Given the description of an element on the screen output the (x, y) to click on. 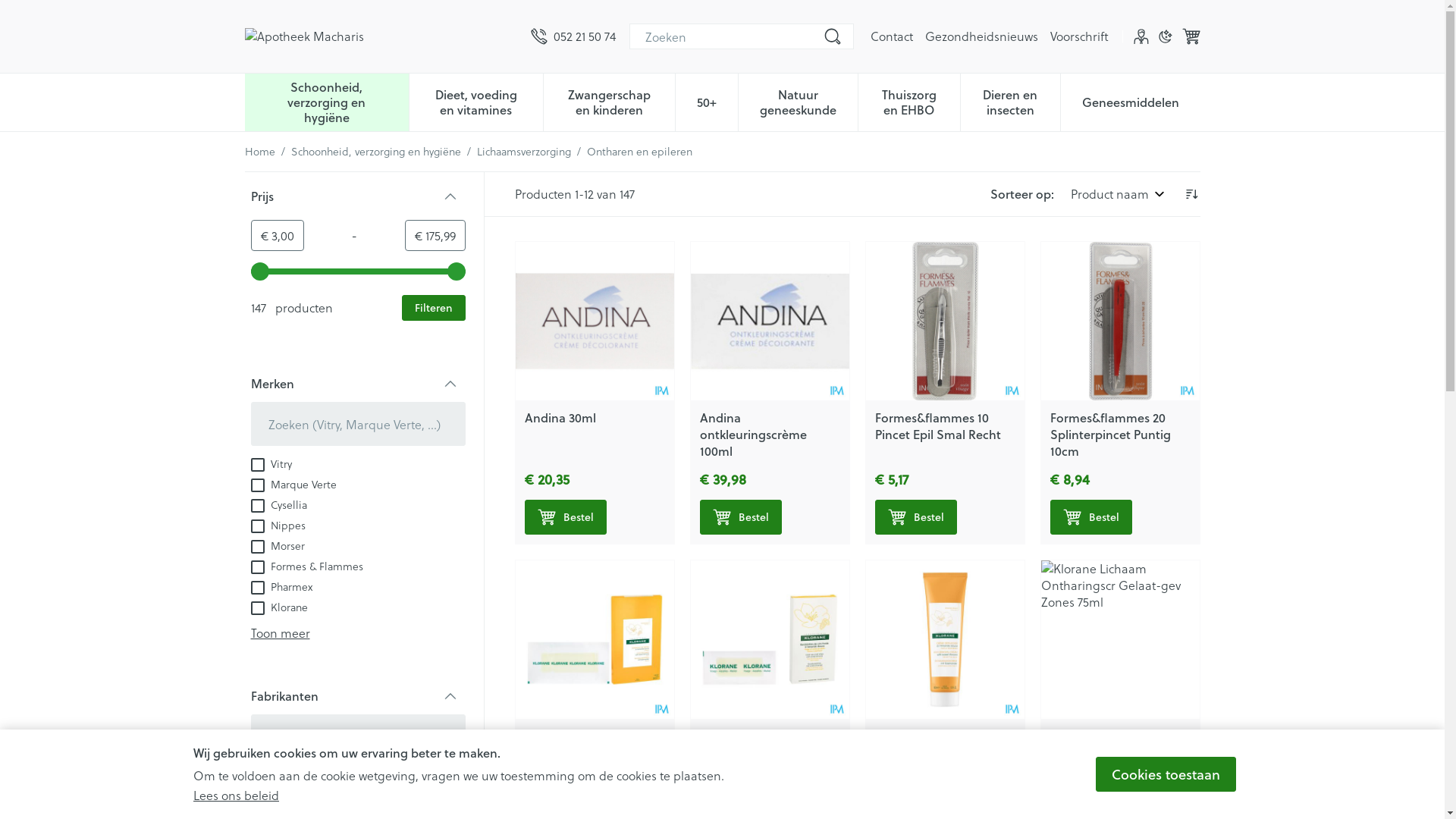
on Element type: text (256, 464)
Gezondheidsnieuws Element type: text (981, 35)
Formes&flammes 20 Splinterpincet Puntig 10cm Element type: text (1109, 433)
052 21 50 74 Element type: text (572, 36)
Dieren en insecten Element type: text (1010, 100)
on Element type: text (256, 587)
Cookies toestaan Element type: text (1165, 773)
Bestel Element type: text (740, 516)
Formes & Flammes Element type: text (306, 565)
Morser Element type: text (277, 544)
Formes&flammes 20 Splinterpincet Puntig 10cm Element type: hover (1119, 320)
on Element type: text (256, 485)
Klorane Lichaam Ontharingscr Benen Tube 150ml Nf Element type: text (932, 752)
Filteren Element type: text (433, 307)
on Element type: text (256, 546)
Marque Verte Element type: text (292, 483)
Vitry Element type: text (270, 775)
Lichaamsverzorging Element type: text (523, 151)
on Element type: text (256, 777)
Apotheek Macharis Element type: hover (380, 36)
Klorane Lichaam Ontharingscr Gelaat-gev Zones 75ml Element type: hover (1119, 639)
Winkelwagen Element type: text (1190, 36)
GSA Healthcare Element type: text (298, 795)
on Element type: text (256, 526)
Zwangerschap en kinderen Element type: text (608, 100)
Klorane Element type: text (278, 606)
Geneesmiddelen Element type: text (1130, 100)
Klorane Lichaam Ontharingscr Gelaat-gev Zones 75ml Element type: text (1109, 752)
on Element type: text (256, 797)
Zoeken Element type: text (832, 36)
Dieet, voeding en vitamines Element type: text (475, 100)
Contact Element type: text (891, 35)
Klorane Lichaam Ontharingscr Benen Tube 150ml Nf Element type: hover (945, 639)
Bestel Element type: text (565, 516)
Apotheek Macharis Element type: hover (303, 36)
Klant menu Element type: text (1140, 35)
Bestel Element type: text (916, 516)
Aflopende richting instellen Element type: hover (1190, 193)
Voorschrift Element type: text (1078, 35)
Cysellia Element type: text (278, 503)
Natuur geneeskunde Element type: text (797, 100)
Pharmex Element type: text (280, 585)
Klorane Lichaam Ontharing Koude Was Benen Strips 6 Element type: hover (594, 639)
on Element type: text (256, 505)
Andina 30ml Element type: hover (594, 320)
Home Element type: text (259, 151)
Klorane Lichaam Ontharing Koude Was Benen Strips 6 Element type: text (586, 752)
Klorane Lichaam Ontharing Koude Was Gel-gev Zone 6 Element type: hover (769, 639)
Toon meer Element type: text (279, 632)
Bestel Element type: text (1090, 516)
Klorane Lichaam Ontharing Koude Was Gel-gev Zone 6 Element type: text (761, 752)
Donkere modus Element type: text (1164, 35)
Nippes Element type: text (277, 524)
Andina 30ml Element type: text (560, 417)
Formes&flammes 10 Pincet Epil Smal Recht Element type: text (938, 425)
Formes&flammes 10 Pincet Epil Smal Recht Element type: hover (945, 320)
on Element type: text (256, 608)
on Element type: text (256, 567)
50+ Element type: text (706, 100)
Vitry Element type: text (270, 462)
Lees ons beleid Element type: text (236, 794)
Thuiszorg en EHBO Element type: text (909, 100)
